Given the description of an element on the screen output the (x, y) to click on. 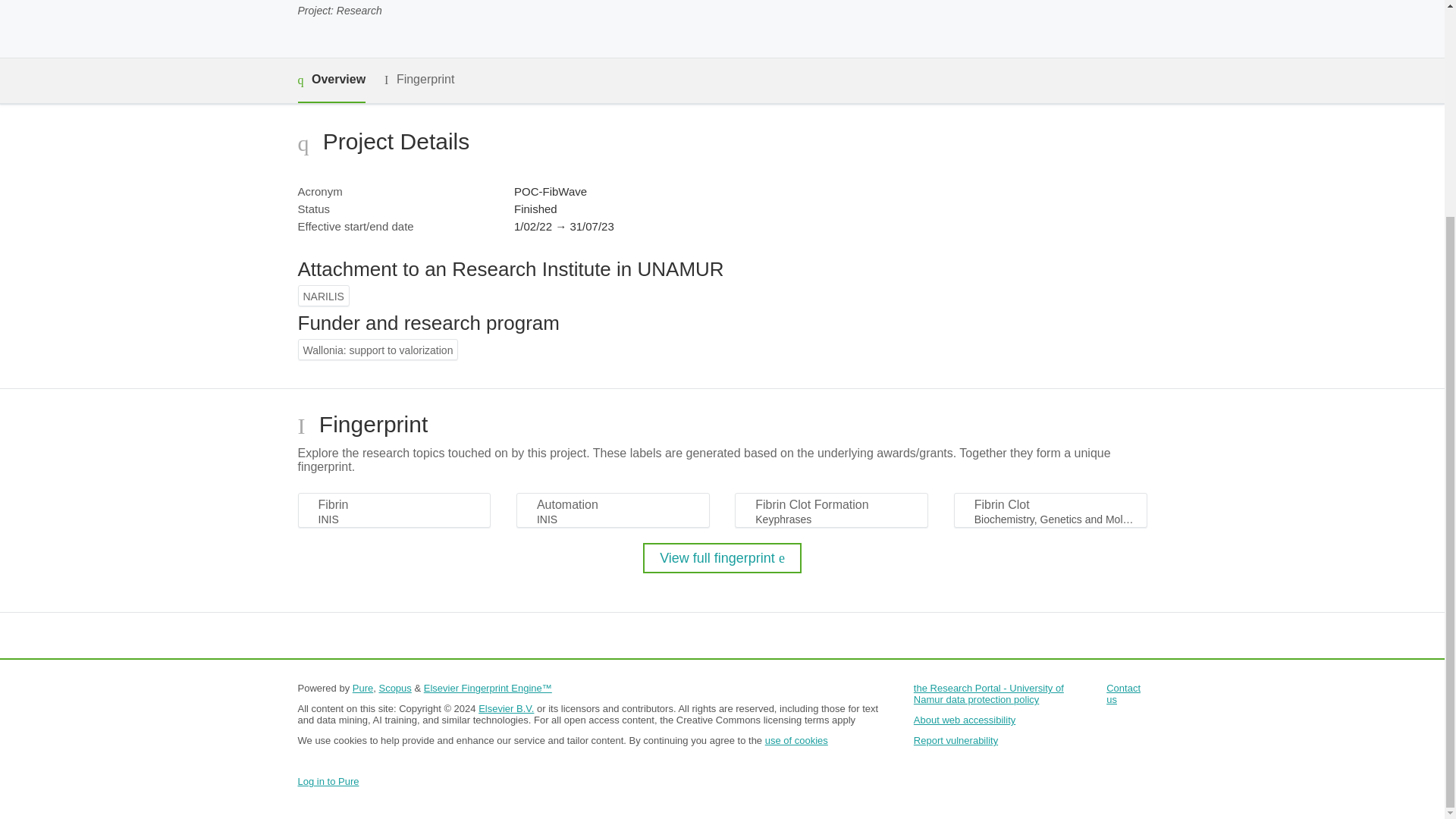
Fingerprint (419, 79)
Overview (331, 80)
use of cookies (796, 740)
Pure (362, 687)
Scopus (394, 687)
Elsevier B.V. (506, 708)
View full fingerprint (722, 557)
